Given the description of an element on the screen output the (x, y) to click on. 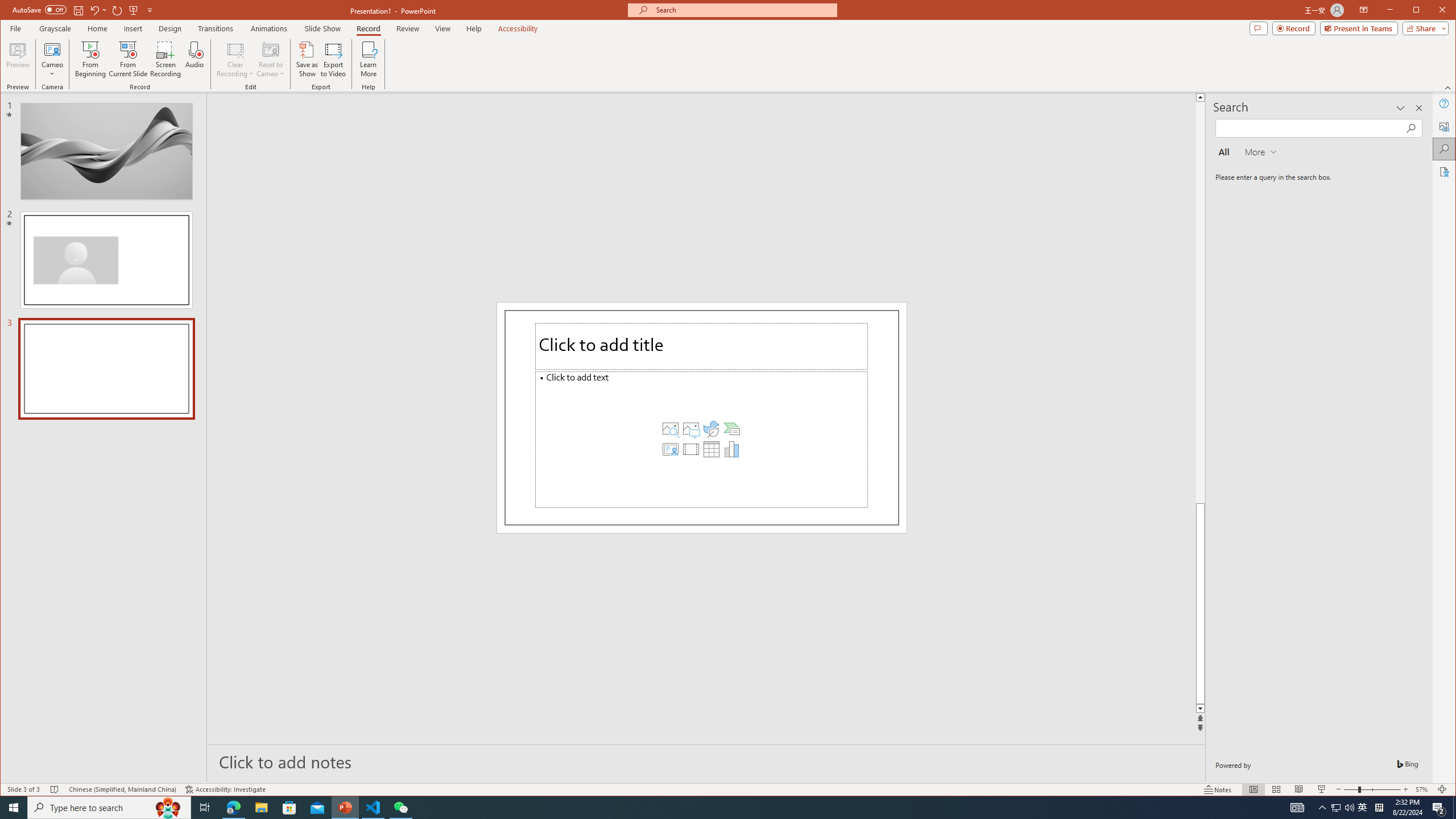
Insert an Icon (710, 428)
Insert a SmartArt Graphic (731, 428)
